Given the description of an element on the screen output the (x, y) to click on. 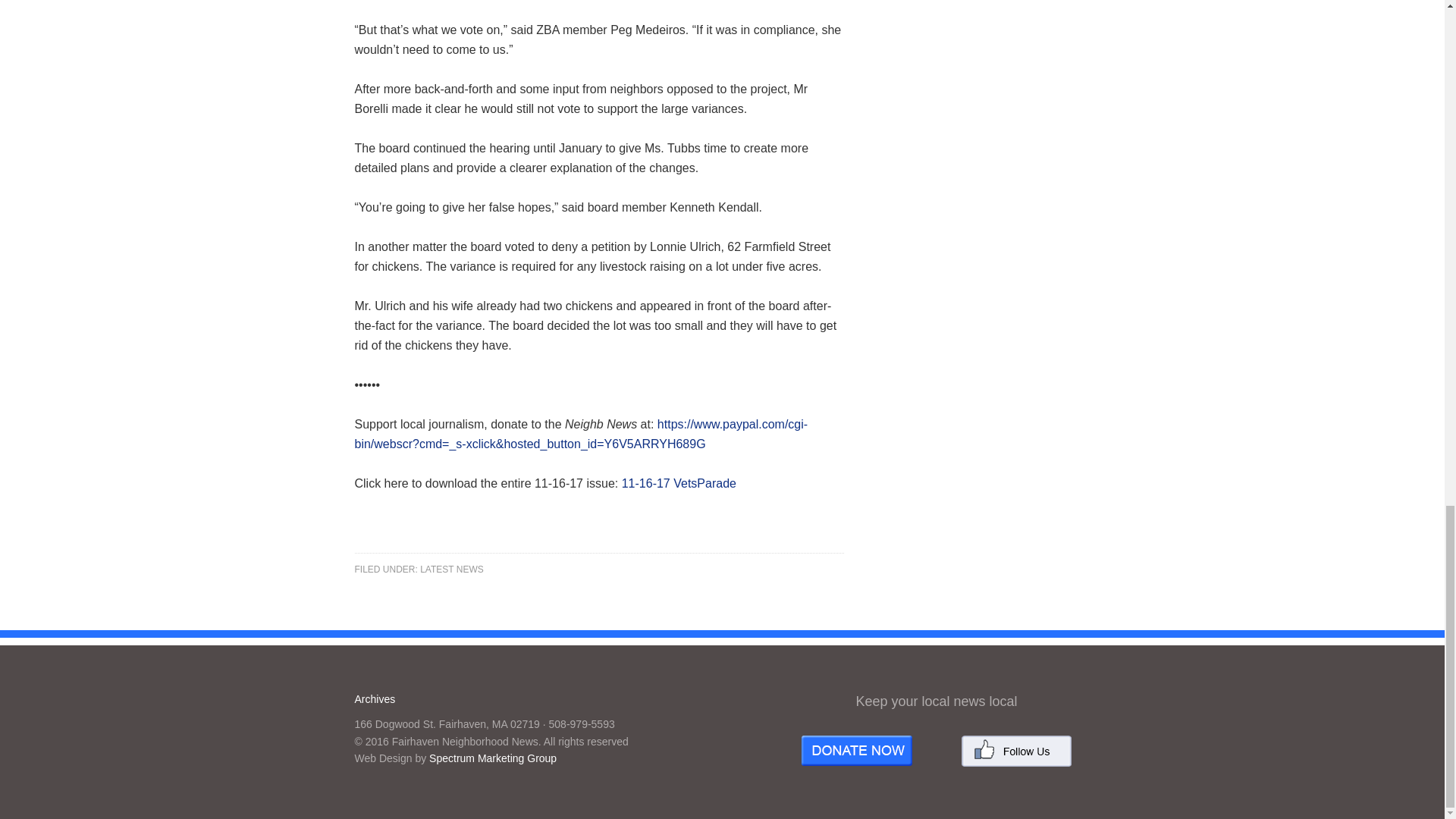
LATEST NEWS (451, 569)
Spectrum Marketing Group (492, 758)
Archives (375, 698)
11-16-17 VetsParade (678, 481)
